Given the description of an element on the screen output the (x, y) to click on. 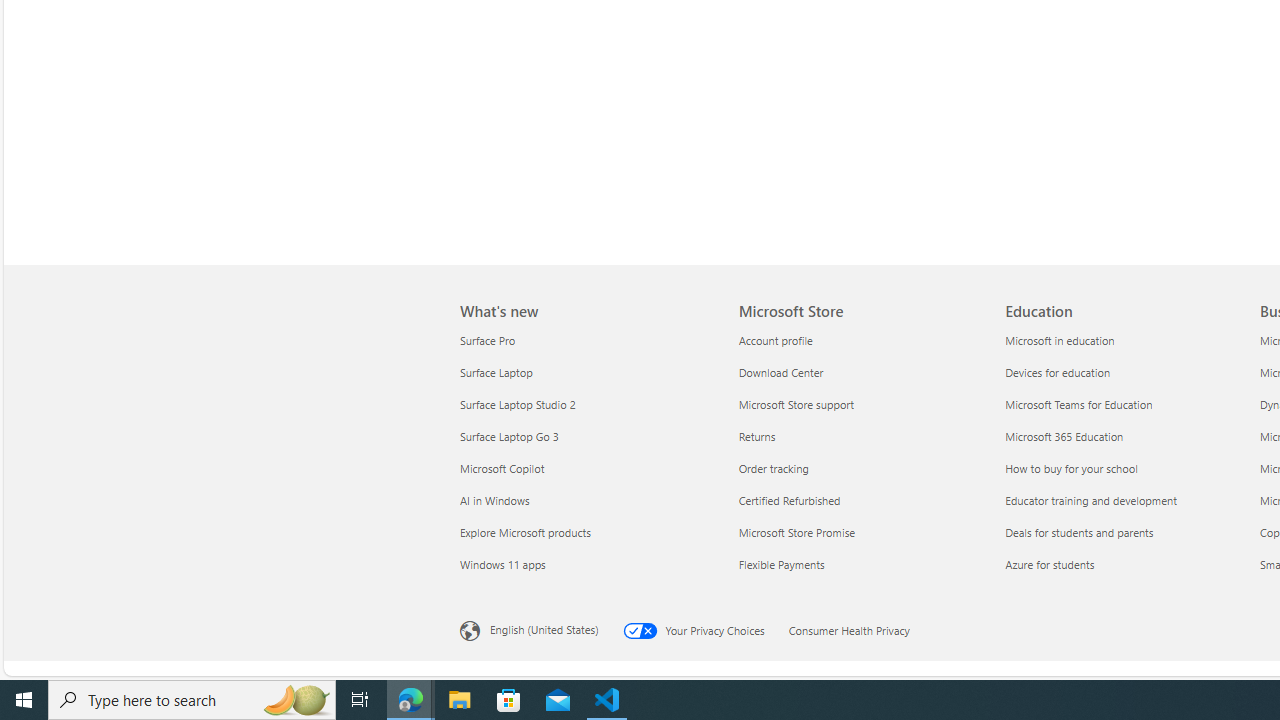
Download Center Microsoft Store (781, 372)
Explore Microsoft products What's new (525, 532)
AI in Windows What's new (494, 499)
Surface Laptop Studio 2 (587, 404)
Deals for students and parents (1126, 532)
Flexible Payments Microsoft Store (781, 563)
Returns Microsoft Store (756, 435)
Microsoft Copilot (587, 468)
Surface Laptop Go 3 What's new (509, 435)
Microsoft Teams for Education Education (1078, 403)
Microsoft Store support (859, 404)
Surface Laptop Go 3 (587, 435)
Windows 11 apps (587, 564)
Your Privacy Choices Opt-Out Icon (643, 630)
